Given the description of an element on the screen output the (x, y) to click on. 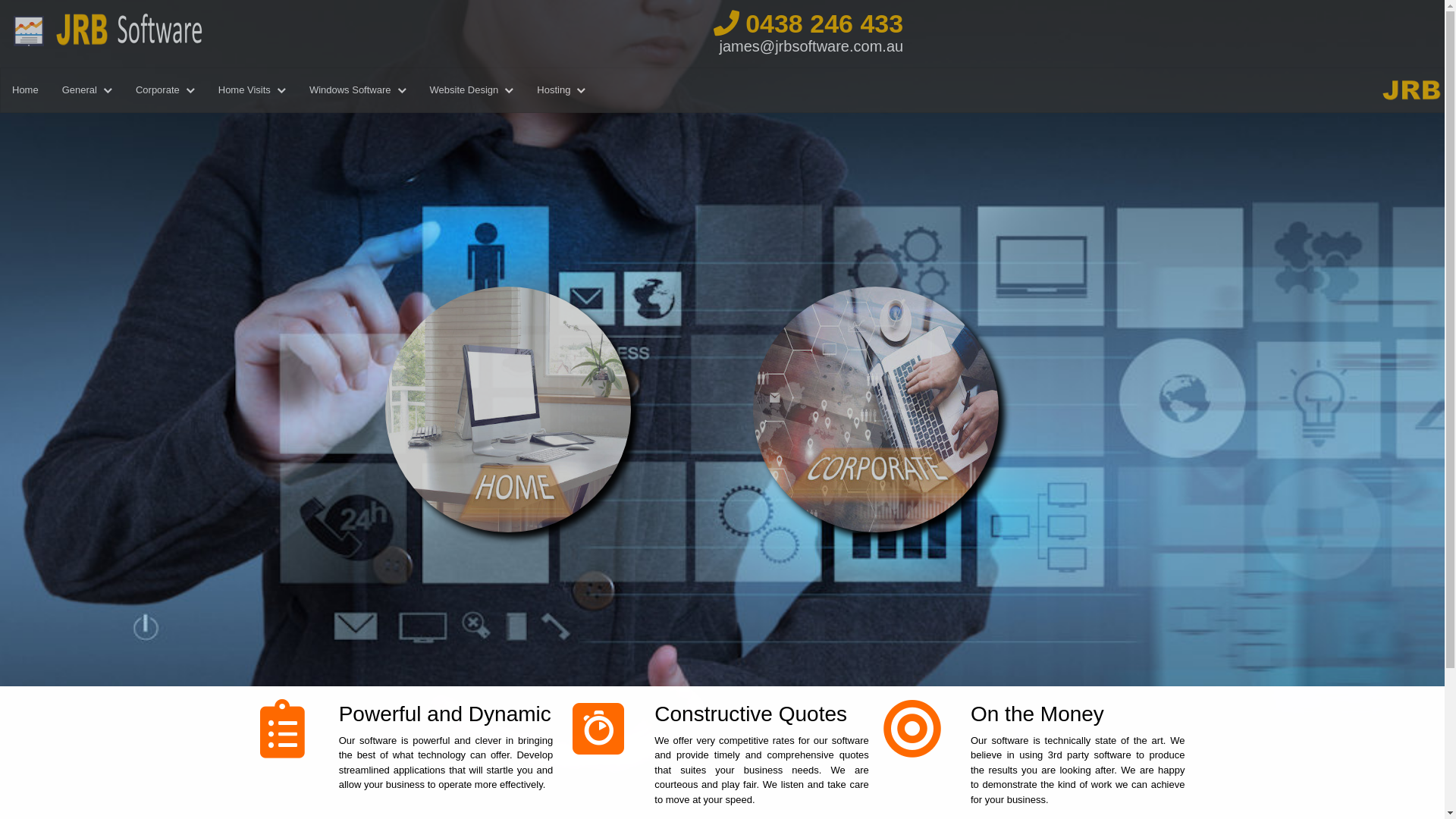
   0438 246 433 Element type: text (801, 23)
james@jrbsoftware.com.au Element type: text (811, 45)
Why Us Element type: hover (603, 730)
Why Us Element type: hover (287, 730)
Why Us Element type: hover (919, 730)
Home Element type: text (25, 90)
Corporate Element type: hover (876, 405)
Home Services Element type: hover (539, 405)
